Given the description of an element on the screen output the (x, y) to click on. 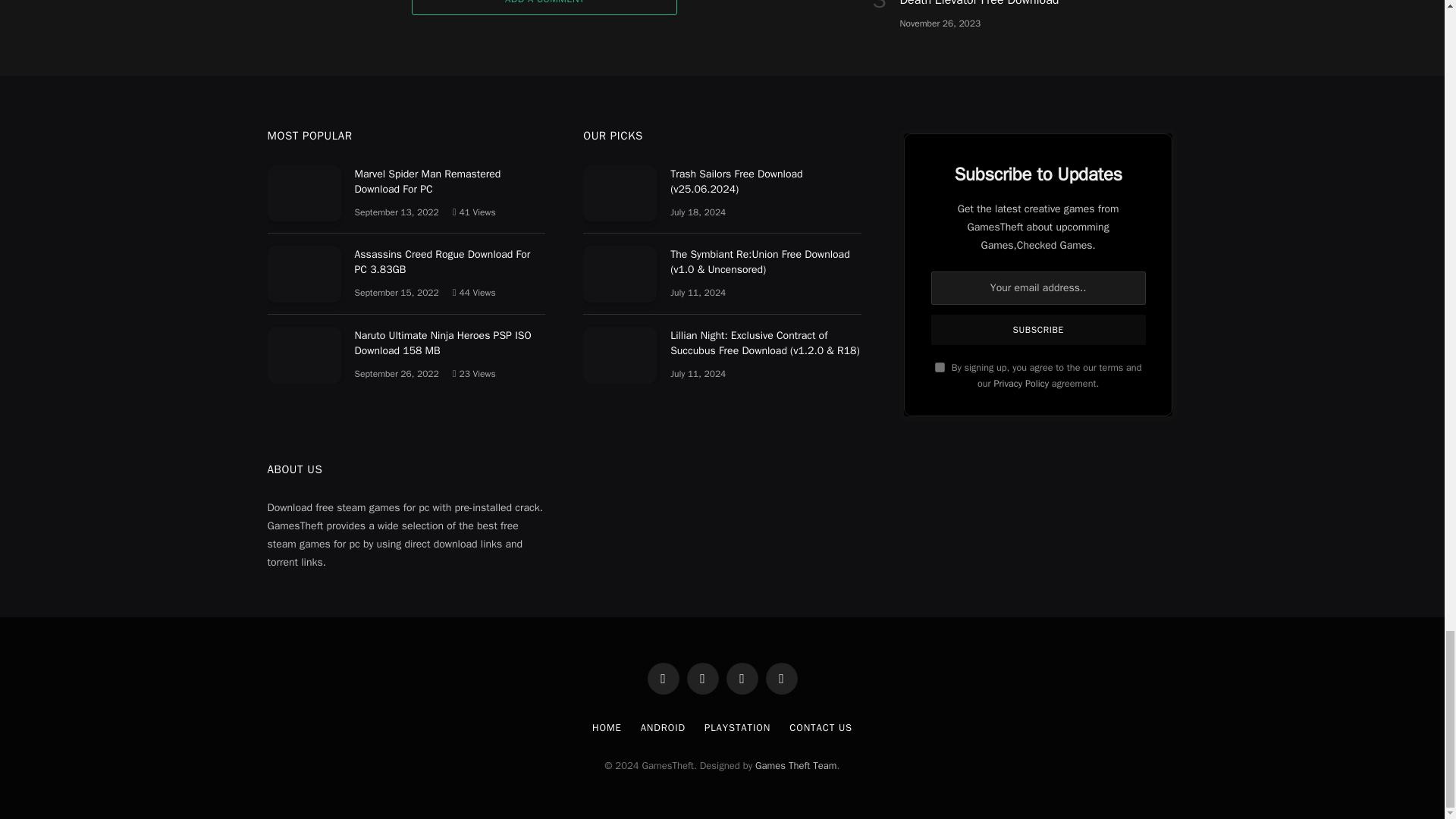
Subscribe (1038, 329)
on (939, 367)
